Given the description of an element on the screen output the (x, y) to click on. 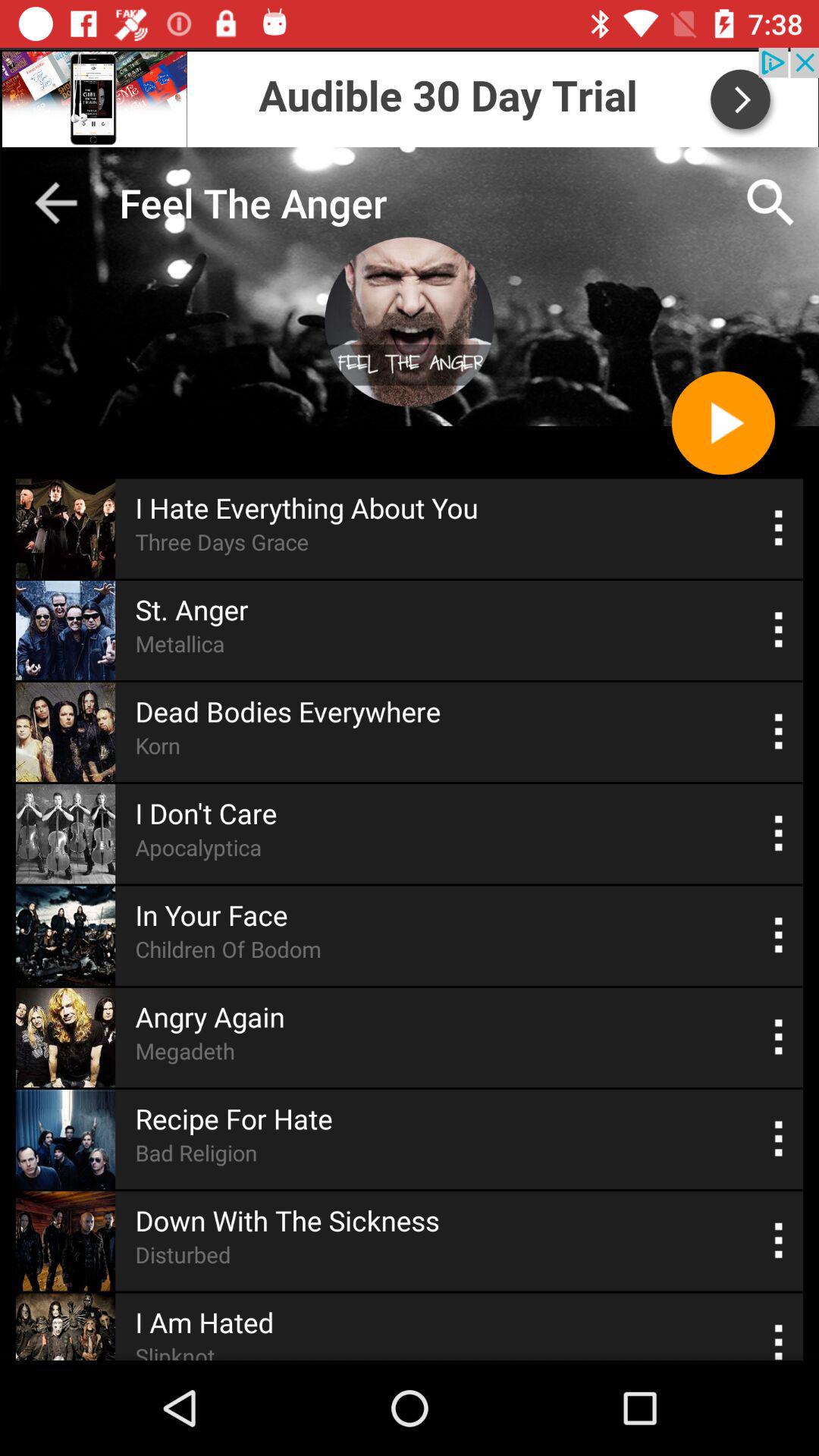
slect the particular option to process (779, 1139)
